Given the description of an element on the screen output the (x, y) to click on. 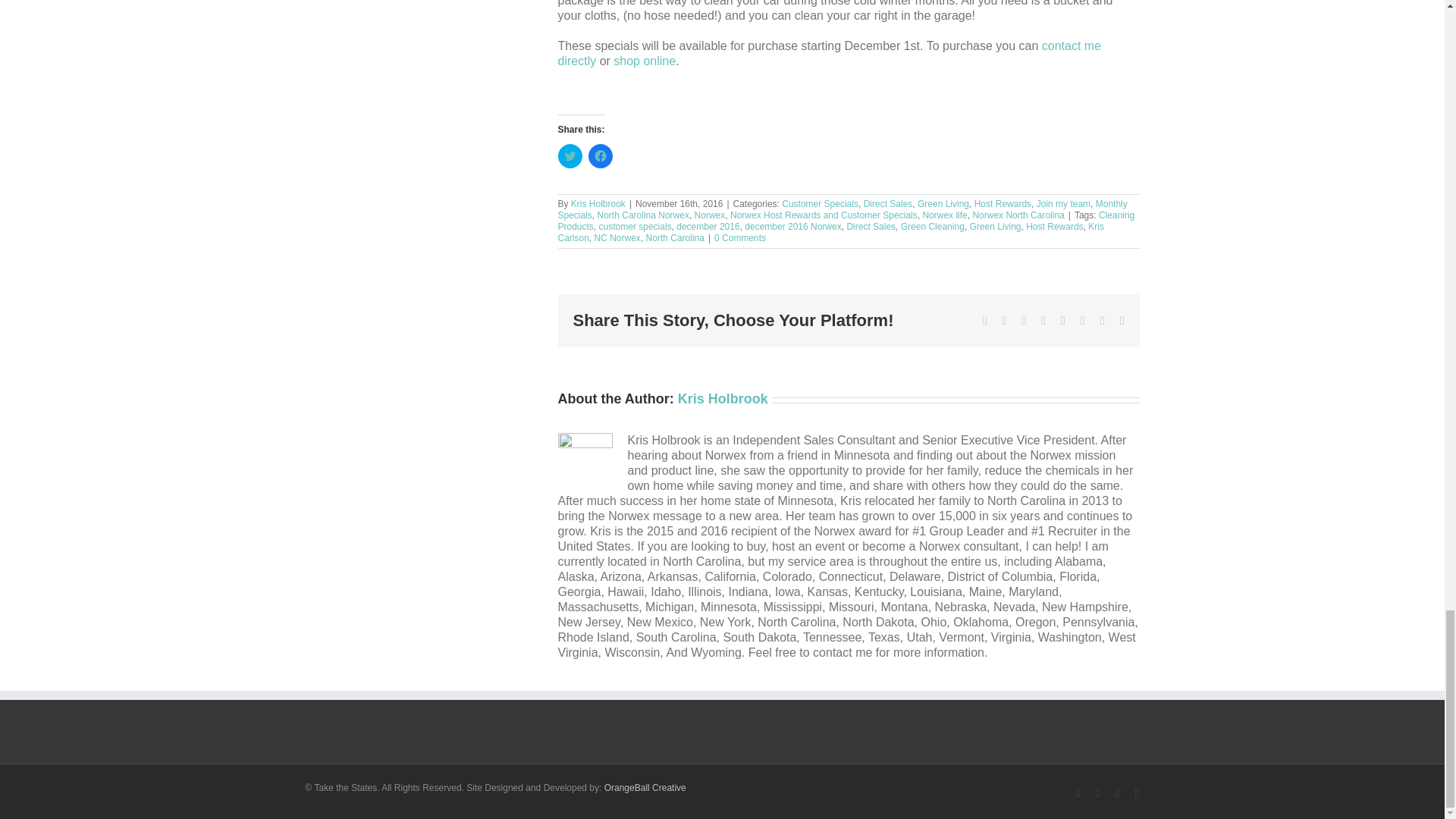
Kris Holbrook (598, 204)
Click to share on Twitter (569, 156)
Click to share on Facebook (600, 156)
contact me directly (829, 53)
Posts by Kris Holbrook (723, 398)
Posts by Kris Holbrook (598, 204)
shop online (643, 60)
